Given the description of an element on the screen output the (x, y) to click on. 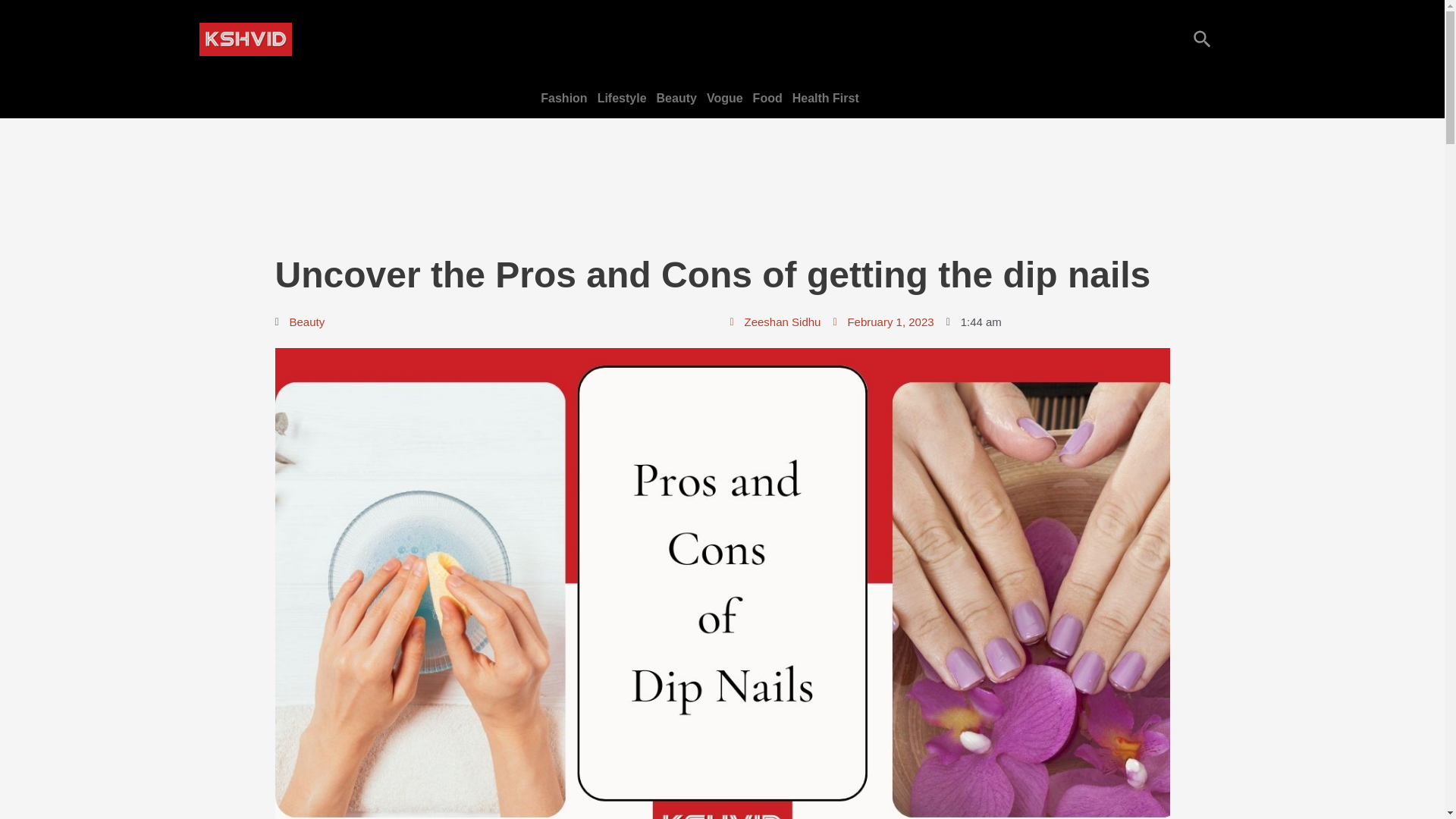
Lifestyle (624, 97)
Food (770, 97)
Vogue (727, 97)
Beauty (678, 97)
Health First (828, 97)
Beauty (306, 321)
Zeeshan Sidhu (775, 322)
February 1, 2023 (882, 322)
Fashion (566, 97)
